Given the description of an element on the screen output the (x, y) to click on. 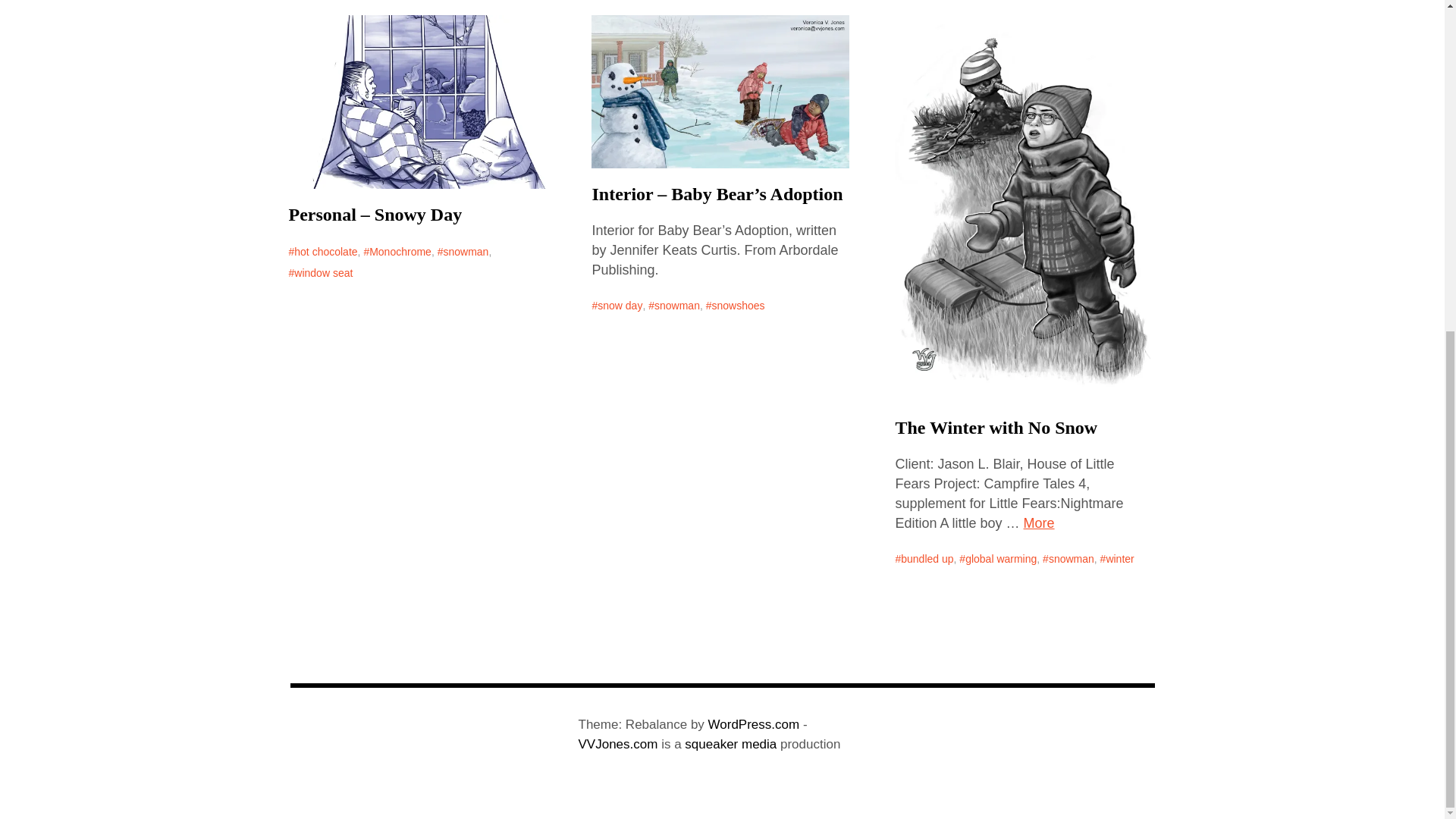
snowshoes (735, 305)
The Winter with No Snow (996, 427)
hot chocolate (322, 251)
bundled up (924, 558)
More (1038, 522)
snowman (463, 251)
window seat (320, 272)
Monochrome (396, 251)
WordPress.com (753, 724)
winter (1117, 558)
